Given the description of an element on the screen output the (x, y) to click on. 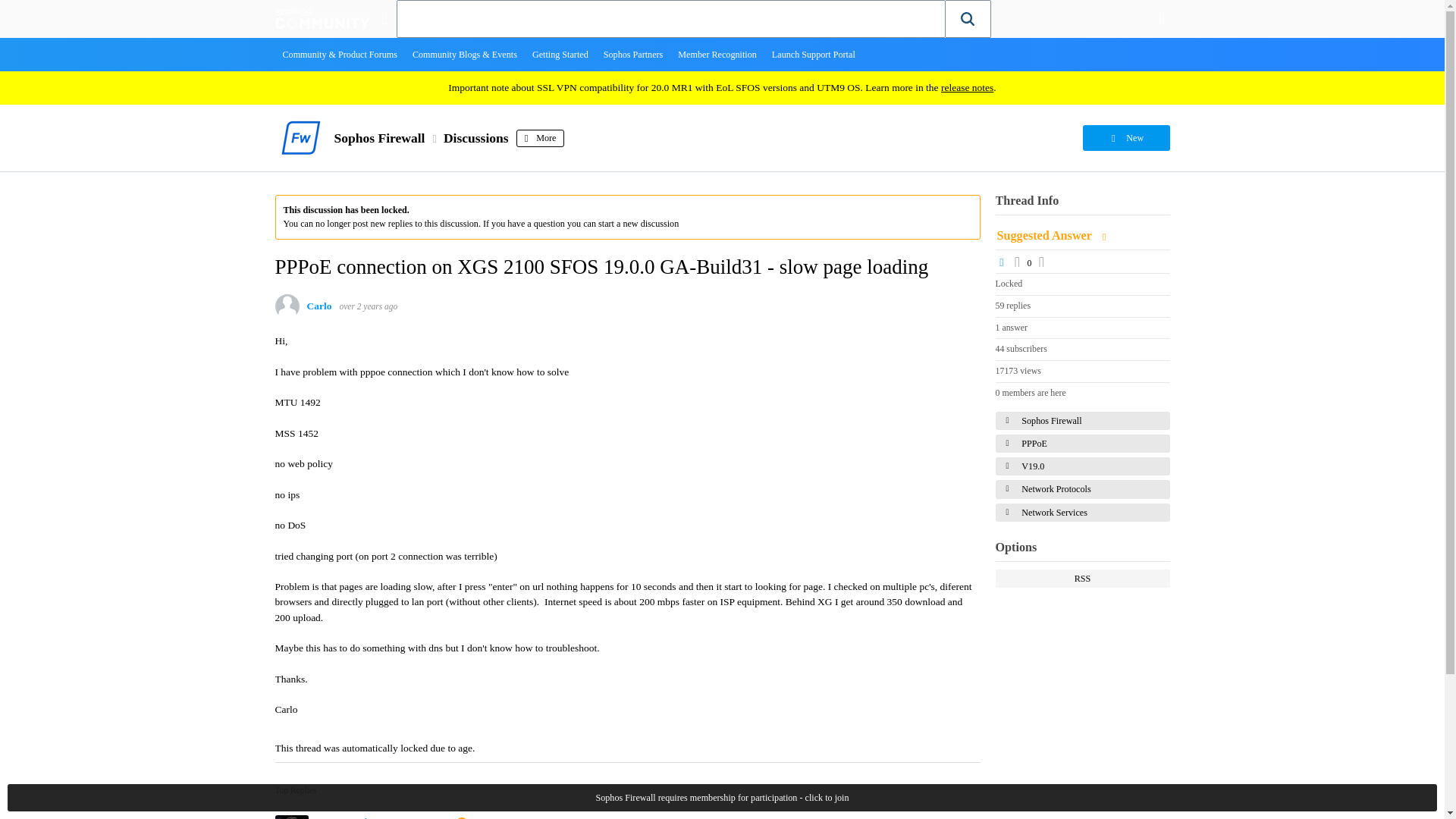
Getting Started (559, 54)
Home (322, 18)
Launch Support Portal (813, 54)
Insert a query. Press enter to send (670, 18)
Join or sign in (1161, 17)
Member Recognition (716, 54)
release notes (966, 87)
Sophos Firewall (379, 137)
Site (384, 18)
User (1161, 17)
Discussions (476, 137)
Groups (384, 18)
Sophos Partners (633, 54)
